Given the description of an element on the screen output the (x, y) to click on. 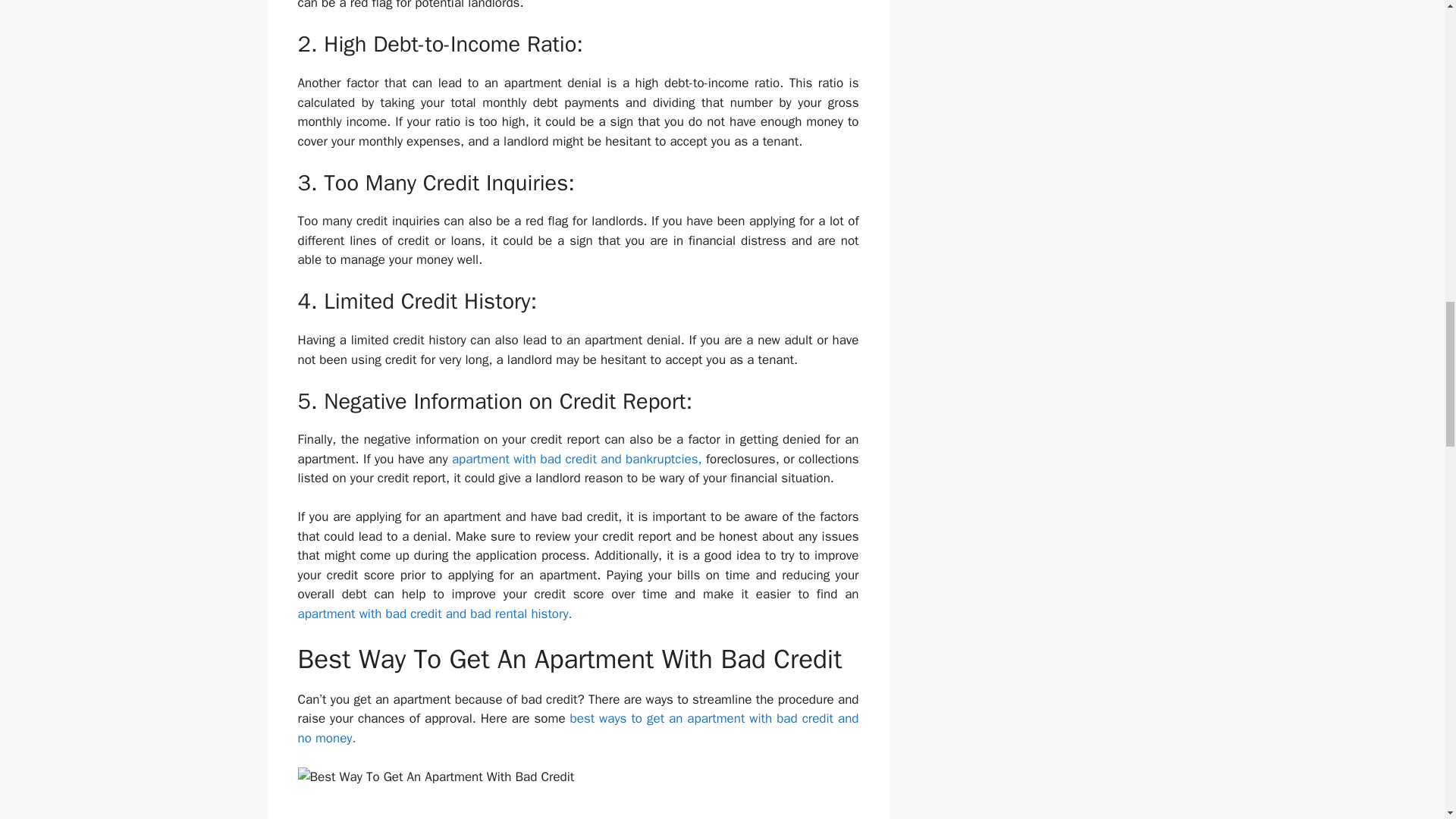
apartment with bad credit and bankruptcies, (576, 458)
apartment with bad credit and bad rental history. (434, 613)
best ways to get an apartment with bad credit and no money. (578, 728)
